Given the description of an element on the screen output the (x, y) to click on. 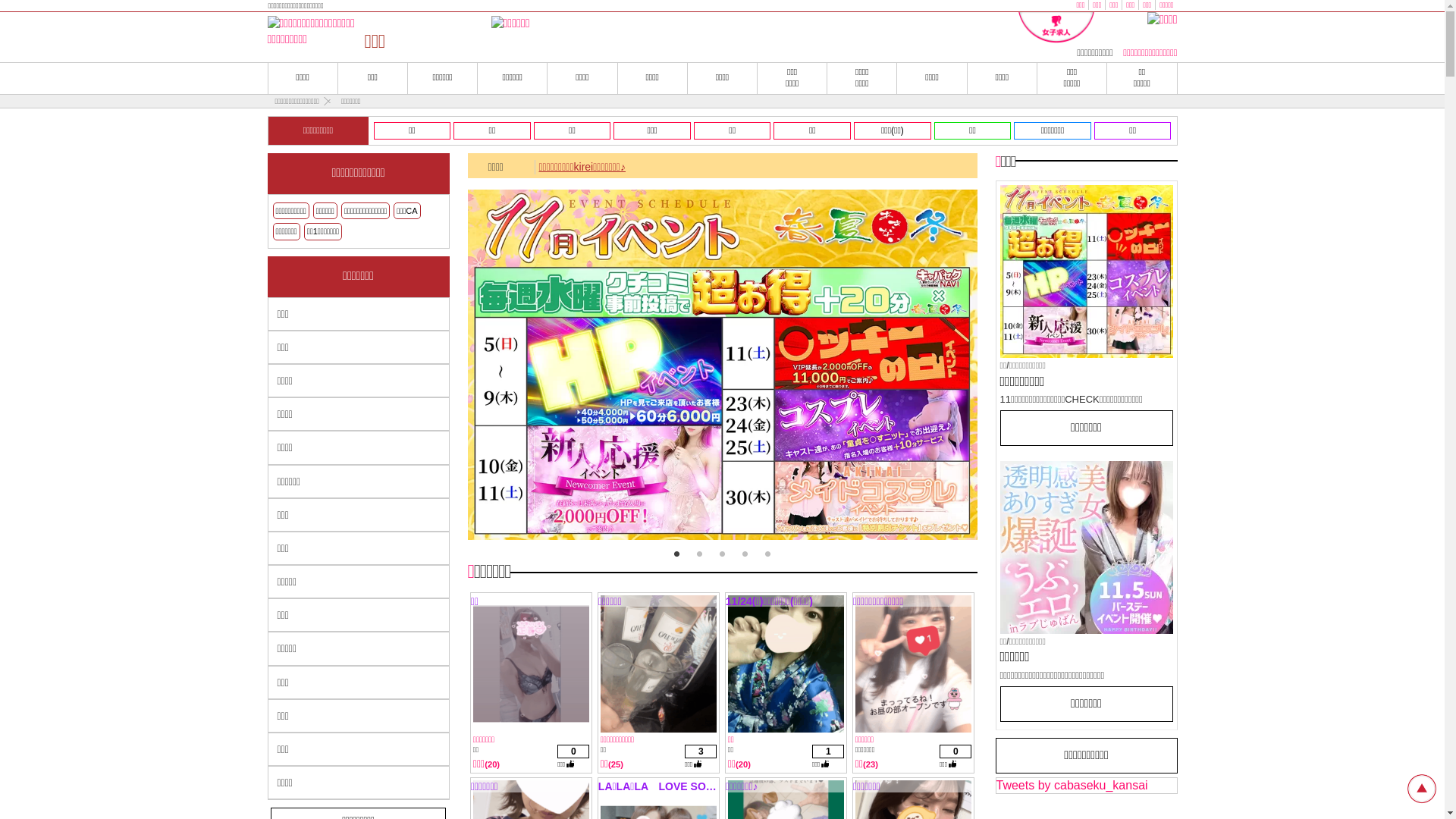
4 Element type: text (744, 553)
3 Element type: text (721, 553)
Next Element type: text (954, 367)
5 Element type: text (767, 553)
Tweets by cabaseku_kansai Element type: text (1072, 784)
1 Element type: text (676, 553)
Previous Element type: text (478, 367)
2 Element type: text (698, 553)
